Given the description of an element on the screen output the (x, y) to click on. 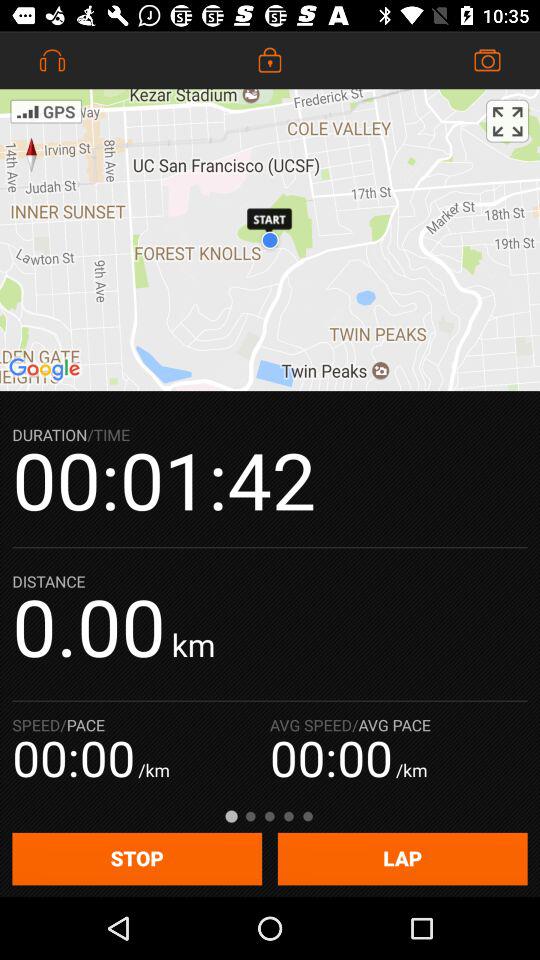
select the icon above the lap (507, 120)
